Given the description of an element on the screen output the (x, y) to click on. 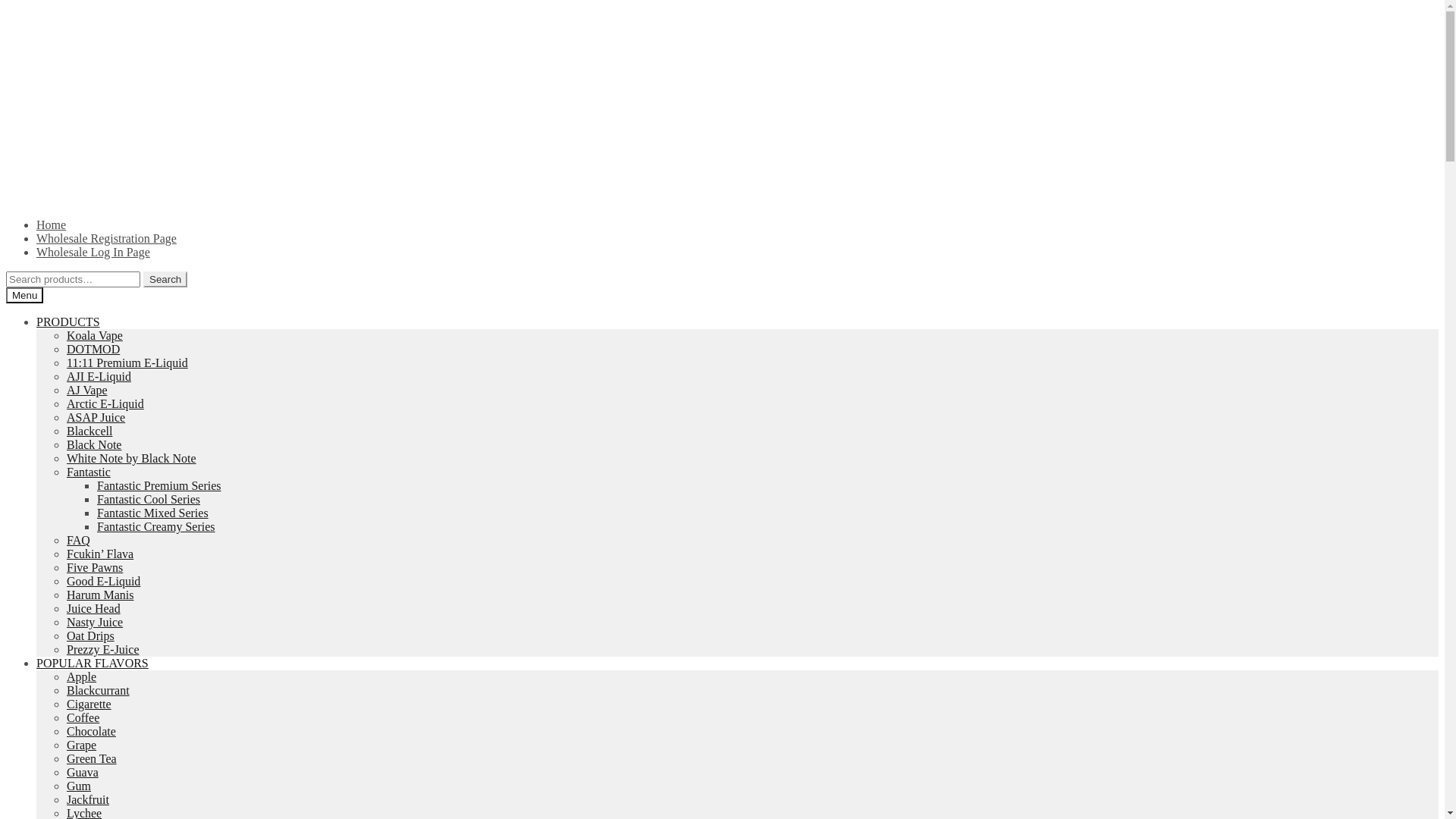
Black Note Element type: text (93, 444)
Jackfruit Element type: text (87, 799)
FAQ Element type: text (78, 539)
Fantastic Creamy Series Element type: text (156, 526)
Search Element type: text (165, 279)
Chocolate Element type: text (91, 730)
Blackcell Element type: text (89, 430)
Juice Head Element type: text (93, 608)
Fantastic Cool Series Element type: text (148, 498)
DOTMOD Element type: text (92, 348)
Green Tea Element type: text (91, 758)
Gum Element type: text (78, 785)
Fantastic Mixed Series Element type: text (152, 512)
POPULAR FLAVORS Element type: text (92, 662)
ASAP Juice Element type: text (95, 417)
Coffee Element type: text (82, 717)
Fantastic Element type: text (88, 471)
AJ Vape Element type: text (86, 389)
Home Element type: text (50, 224)
Wholesale Log In Page Element type: text (93, 251)
Menu Element type: text (24, 295)
Prezzy E-Juice Element type: text (102, 649)
Five Pawns Element type: text (94, 567)
Apple Element type: text (81, 676)
Wholesale Registration Page Element type: text (106, 238)
Skip to navigation Element type: text (5, 12)
Grape Element type: text (81, 744)
Koala Vape Element type: text (94, 335)
Guava Element type: text (82, 771)
AJI E-Liquid Element type: text (98, 376)
Fantastic Premium Series Element type: text (159, 485)
Good E-Liquid Element type: text (103, 580)
11:11 Premium E-Liquid Element type: text (127, 362)
Oat Drips Element type: text (90, 635)
Arctic E-Liquid Element type: text (105, 403)
Nasty Juice Element type: text (94, 621)
PRODUCTS Element type: text (68, 321)
White Note by Black Note Element type: text (131, 457)
Harum Manis Element type: text (99, 594)
Blackcurrant Element type: text (97, 690)
Cigarette Element type: text (88, 703)
